Given the description of an element on the screen output the (x, y) to click on. 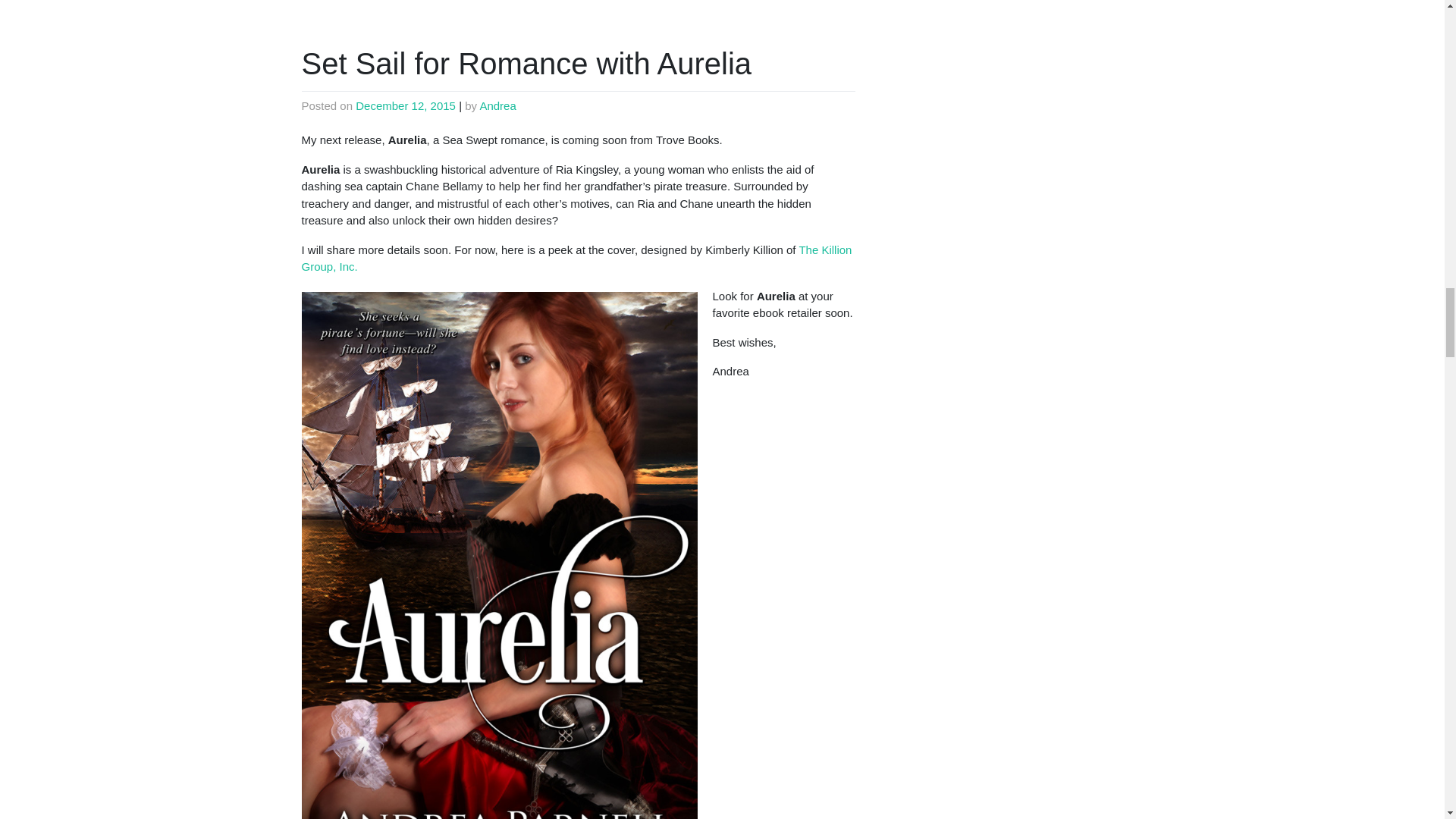
The Killion Group, Inc. (576, 258)
Andrea (497, 105)
Set Sail for Romance with Aurelia (526, 63)
December 12, 2015 (405, 105)
